Given the description of an element on the screen output the (x, y) to click on. 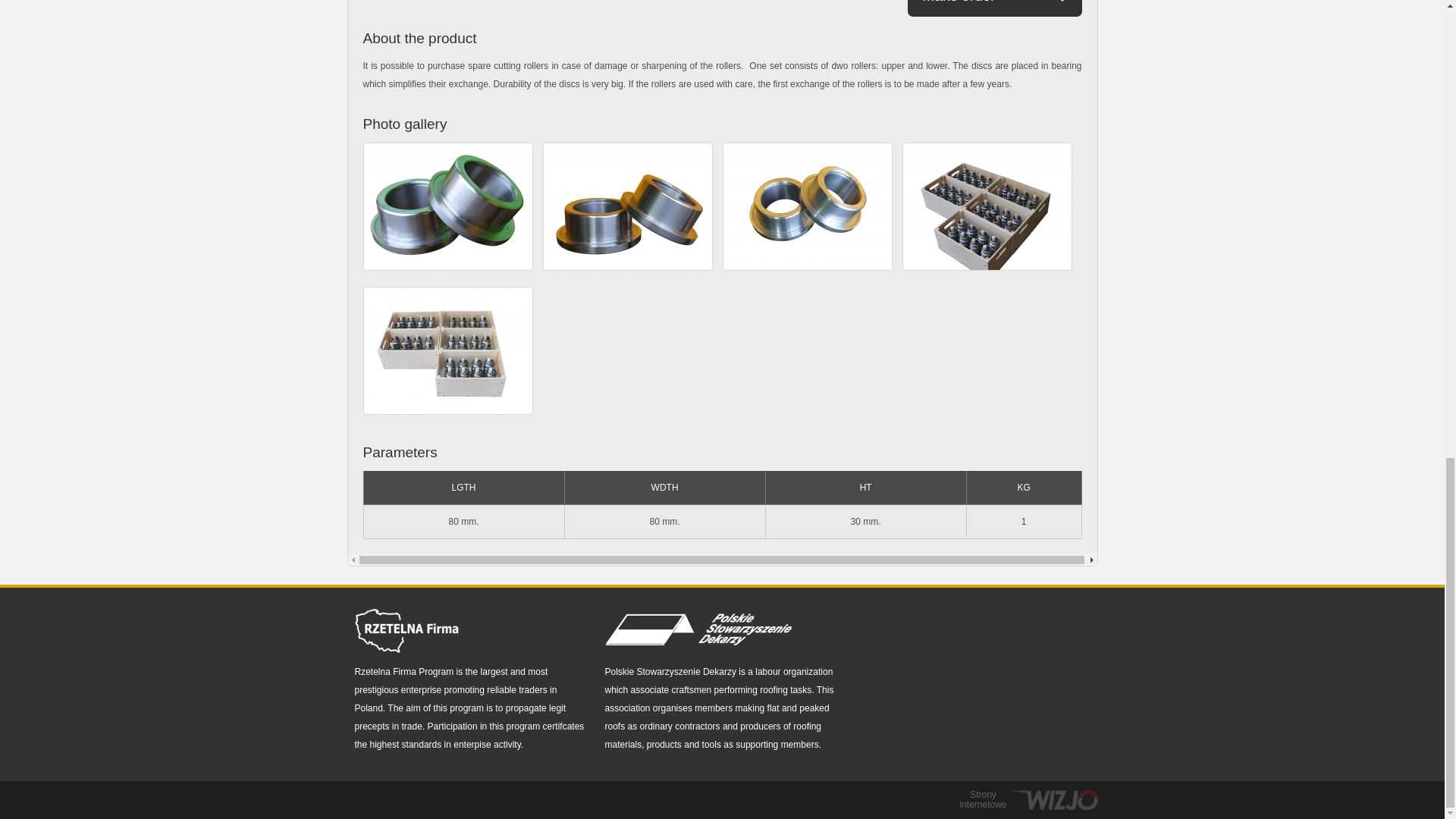
Strony internetowe (1025, 799)
Make order (994, 8)
